Given the description of an element on the screen output the (x, y) to click on. 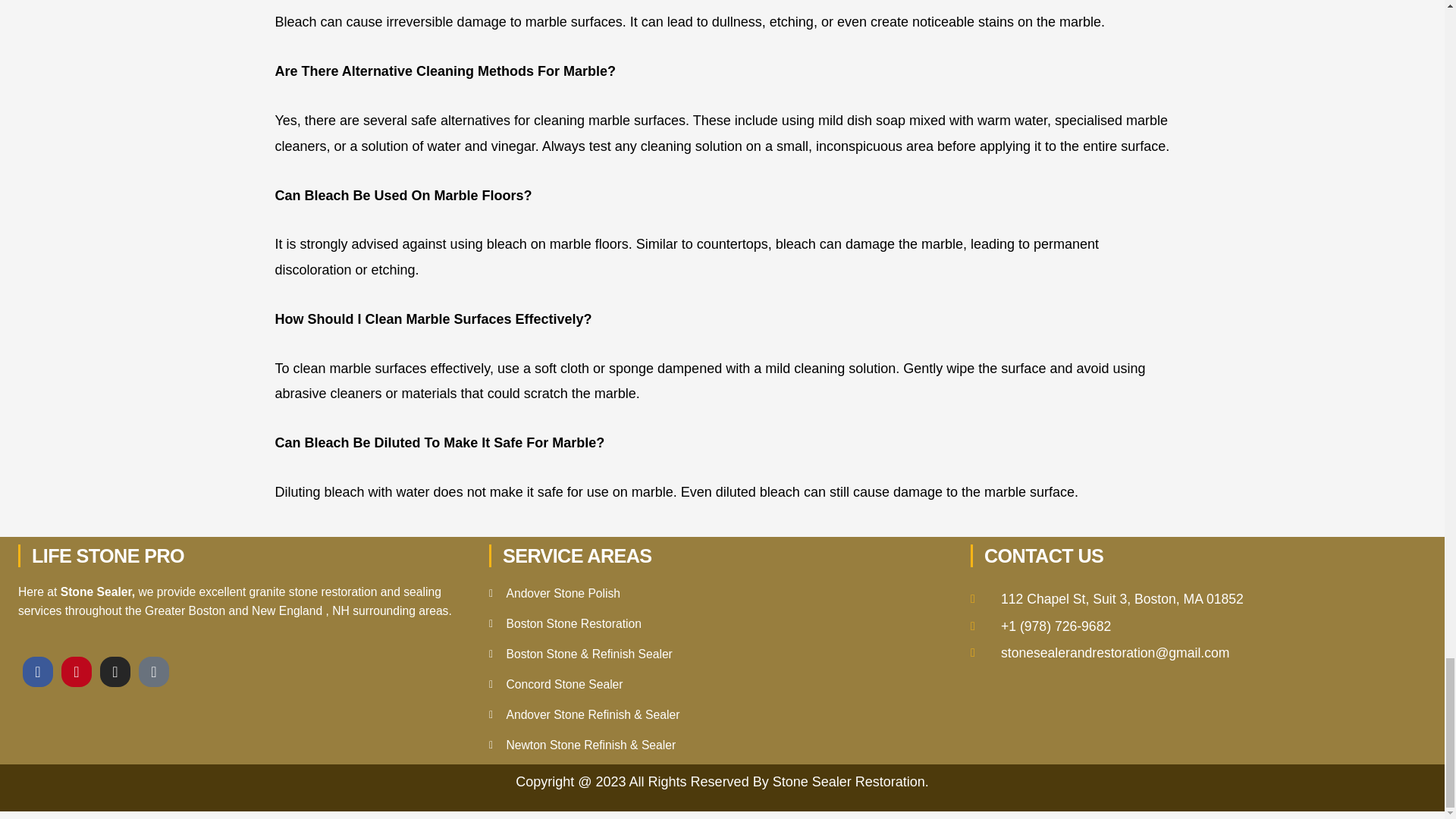
Pinterest (76, 671)
Instagram (115, 671)
Map-marker-alt (153, 671)
Facebook-f (37, 671)
